Given the description of an element on the screen output the (x, y) to click on. 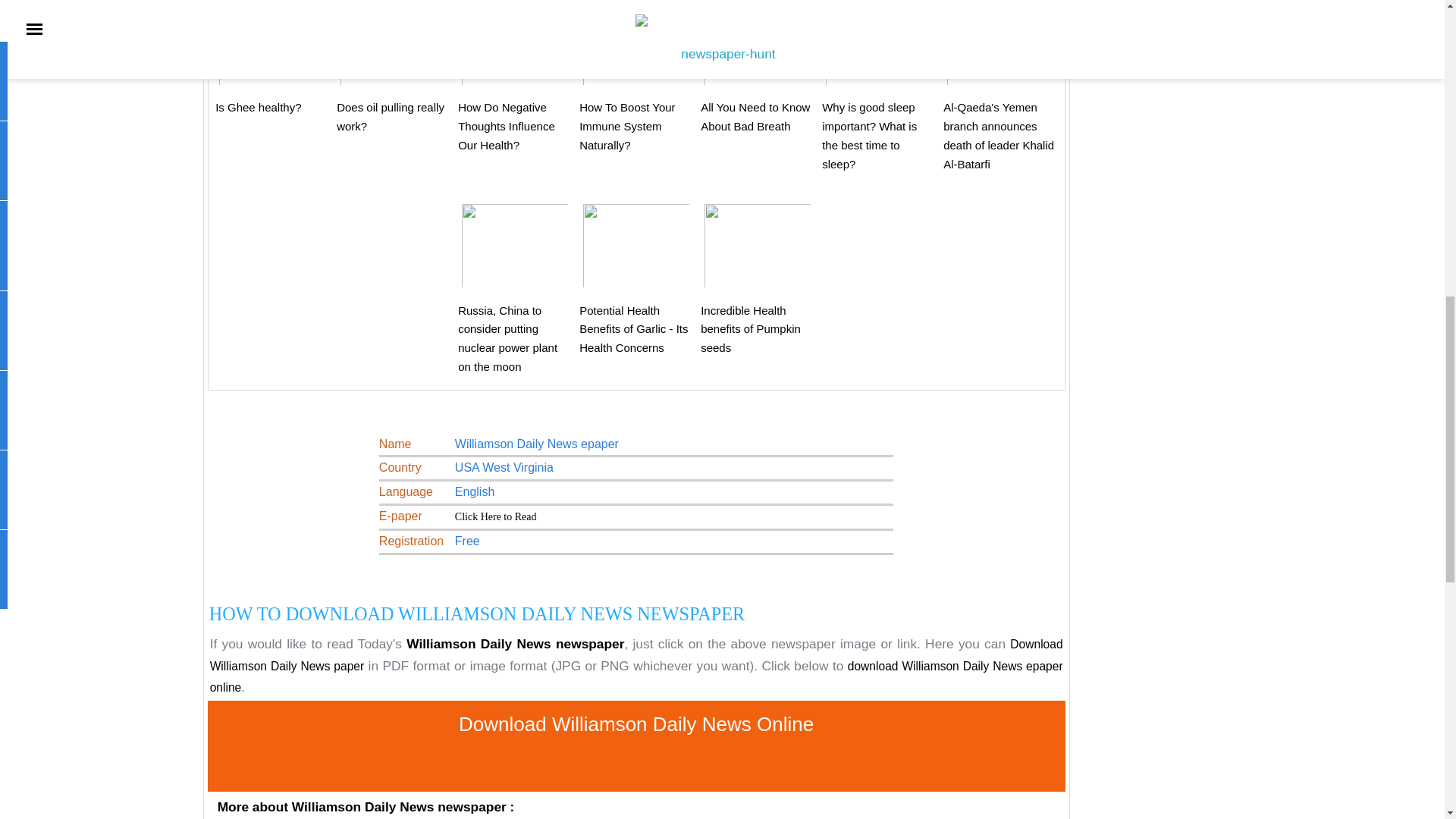
Download Williamson Daily News news paper (495, 516)
